Given the description of an element on the screen output the (x, y) to click on. 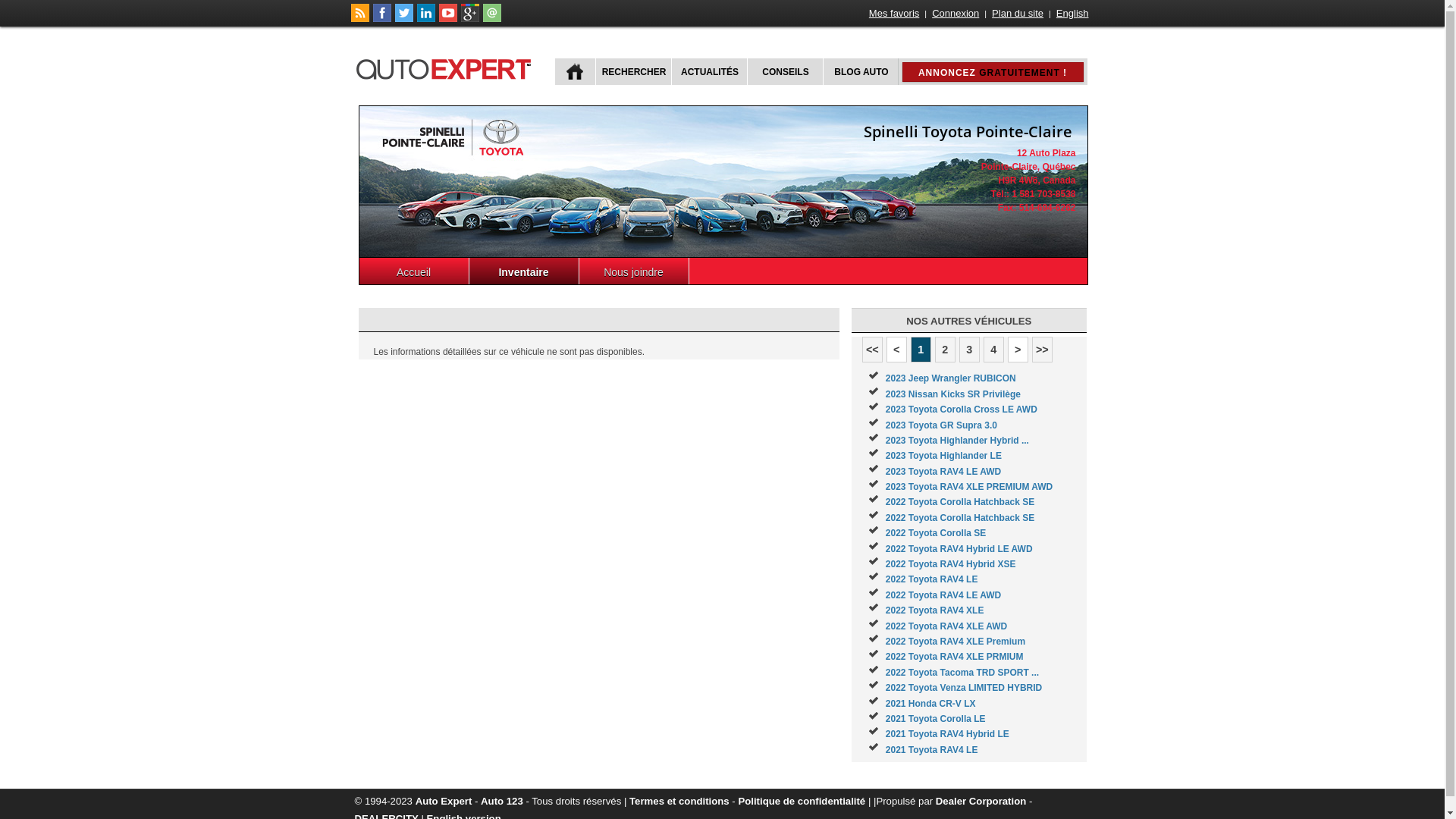
Joindre autoExpert.ca Element type: hover (491, 18)
Auto Expert Element type: text (443, 800)
2023 Toyota Corolla Cross LE AWD Element type: text (961, 409)
2022 Toyota RAV4 XLE Premium Element type: text (955, 641)
< Element type: text (896, 349)
Mes favoris Element type: text (893, 13)
2022 Toyota RAV4 XLE PRMIUM Element type: text (954, 656)
Auto 123 Element type: text (501, 800)
RECHERCHER Element type: text (631, 71)
ACCUEIL Element type: text (575, 71)
2022 Toyota RAV4 XLE AWD Element type: text (946, 626)
CONSEILS Element type: text (783, 71)
2023 Toyota Highlander LE Element type: text (943, 455)
> Element type: text (1017, 349)
Suivez autoExpert.ca sur Facebook Element type: hover (382, 18)
Connexion Element type: text (955, 13)
Inventaire Element type: text (523, 270)
Suivez autoExpert.ca sur Twitter Element type: hover (403, 18)
2022 Toyota Tacoma TRD SPORT ... Element type: text (961, 672)
Accueil Element type: text (414, 270)
2022 Toyota Corolla Hatchback SE Element type: text (960, 501)
3 Element type: text (969, 349)
2022 Toyota RAV4 LE AWD Element type: text (943, 594)
Suivez autoExpert.ca sur Youtube Element type: hover (447, 18)
4 Element type: text (993, 349)
2021 Toyota Corolla LE Element type: text (935, 718)
autoExpert.ca Element type: text (446, 66)
2 Element type: text (945, 349)
>> Element type: text (1042, 349)
Plan du site Element type: text (1017, 13)
2022 Toyota Corolla SE Element type: text (935, 532)
Suivez autoExpert.ca sur Google Plus Element type: hover (470, 18)
ANNONCEZ GRATUITEMENT ! Element type: text (992, 71)
Dealer Corporation Element type: text (980, 800)
Suivez Publications Le Guide Inc. sur LinkedIn Element type: hover (426, 18)
2021 Toyota RAV4 Hybrid LE Element type: text (947, 733)
2021 Honda CR-V LX Element type: text (930, 703)
<< Element type: text (872, 349)
1 Element type: text (920, 349)
Nous joindre Element type: text (634, 270)
2023 Toyota RAV4 XLE PREMIUM AWD Element type: text (968, 486)
English Element type: text (1072, 13)
2022 Toyota RAV4 LE Element type: text (931, 579)
BLOG AUTO Element type: text (859, 71)
2023 Toyota Highlander Hybrid ... Element type: text (957, 440)
2022 Toyota Venza LIMITED HYBRID Element type: text (963, 687)
2022 Toyota Corolla Hatchback SE Element type: text (960, 517)
2023 Jeep Wrangler RUBICON Element type: text (950, 378)
2021 Toyota RAV4 LE Element type: text (931, 749)
Termes et conditions Element type: text (679, 800)
2023 Toyota GR Supra 3.0 Element type: text (941, 425)
2023 Toyota RAV4 LE AWD Element type: text (943, 471)
2022 Toyota RAV4 Hybrid XSE Element type: text (950, 563)
2022 Toyota RAV4 XLE Element type: text (934, 610)
2022 Toyota RAV4 Hybrid LE AWD Element type: text (958, 548)
